Given the description of an element on the screen output the (x, y) to click on. 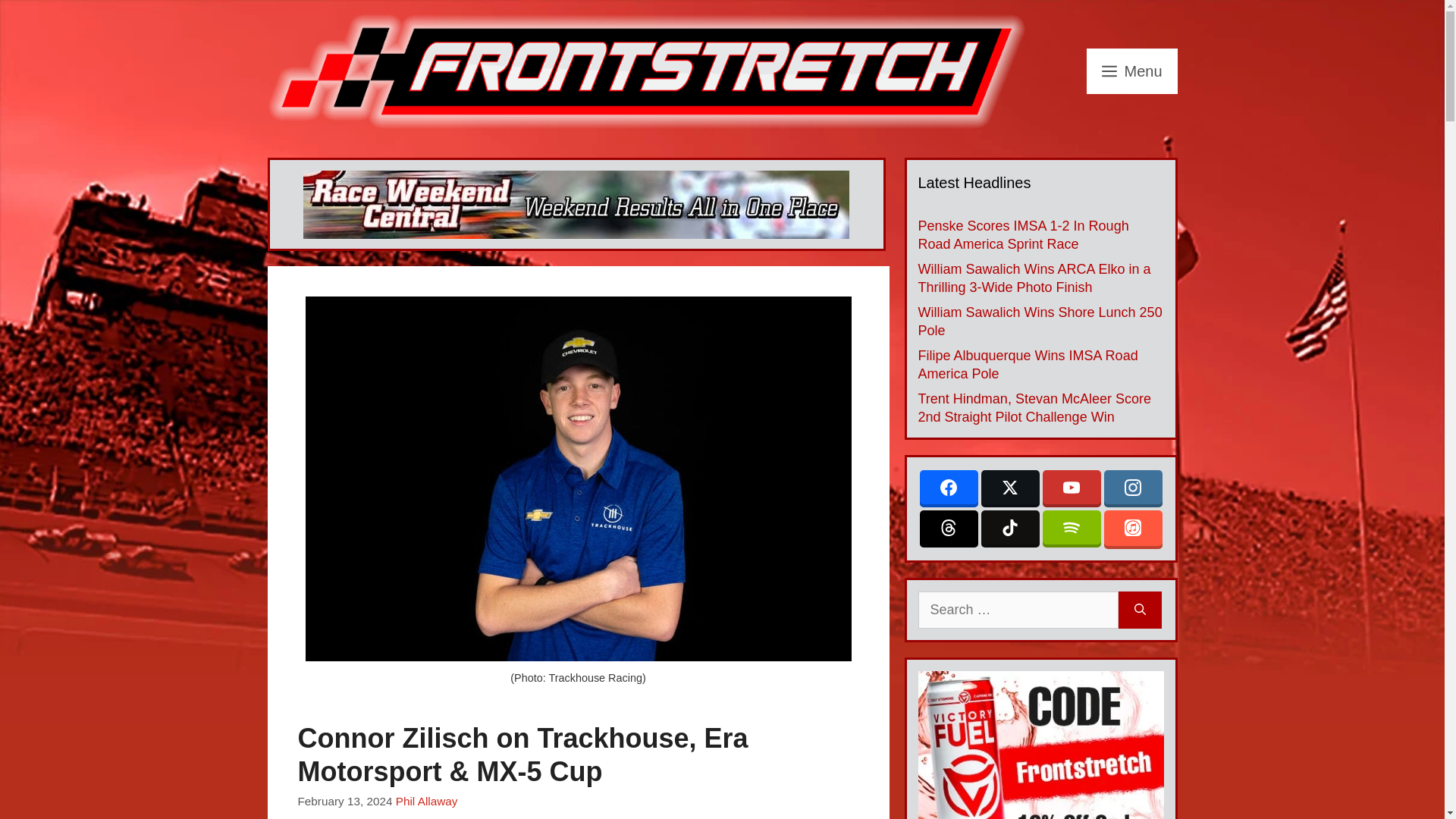
Phil Allaway (427, 800)
Menu (1131, 71)
